Given the description of an element on the screen output the (x, y) to click on. 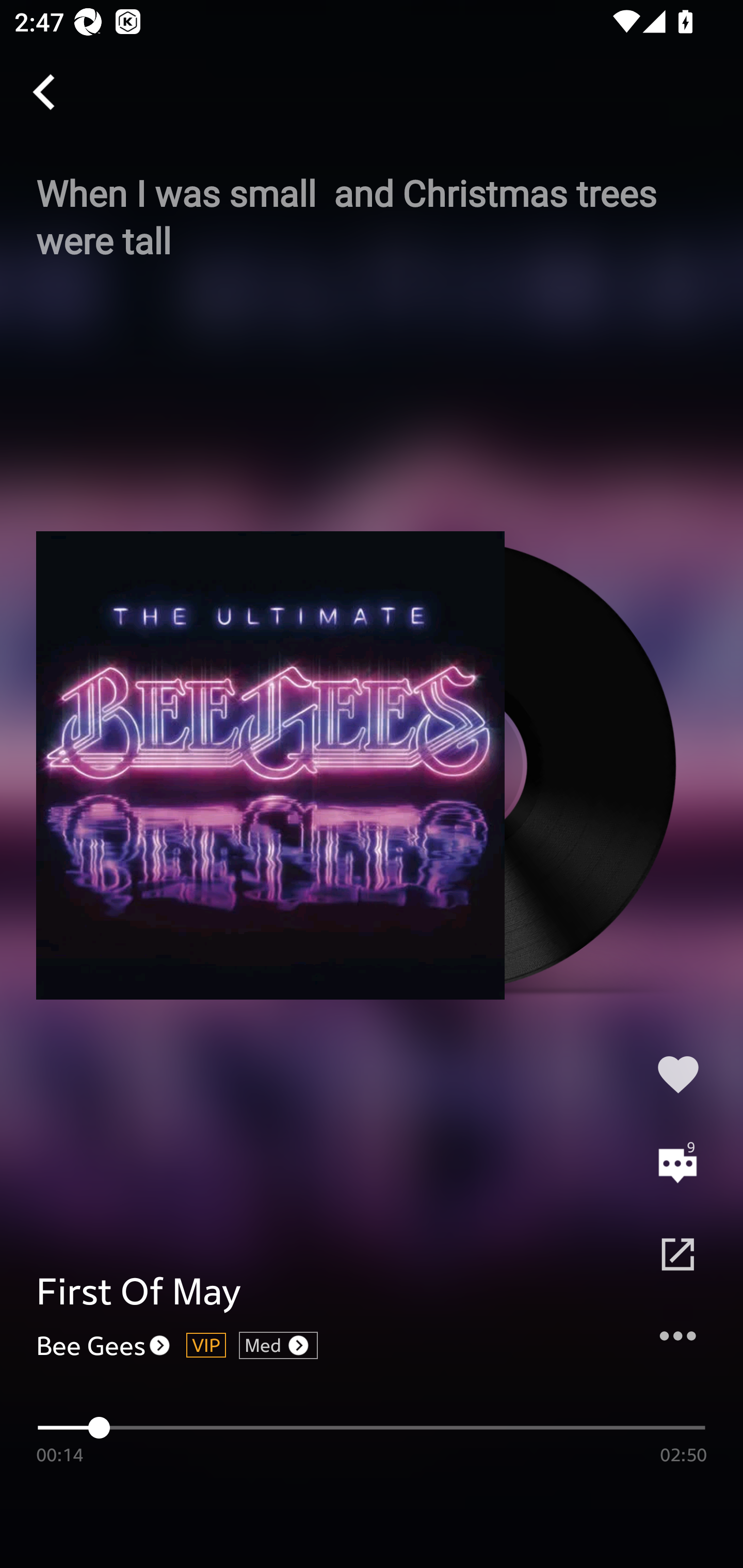
Bee Gees (104, 1345)
Med (278, 1345)
VIP (205, 1344)
